Given the description of an element on the screen output the (x, y) to click on. 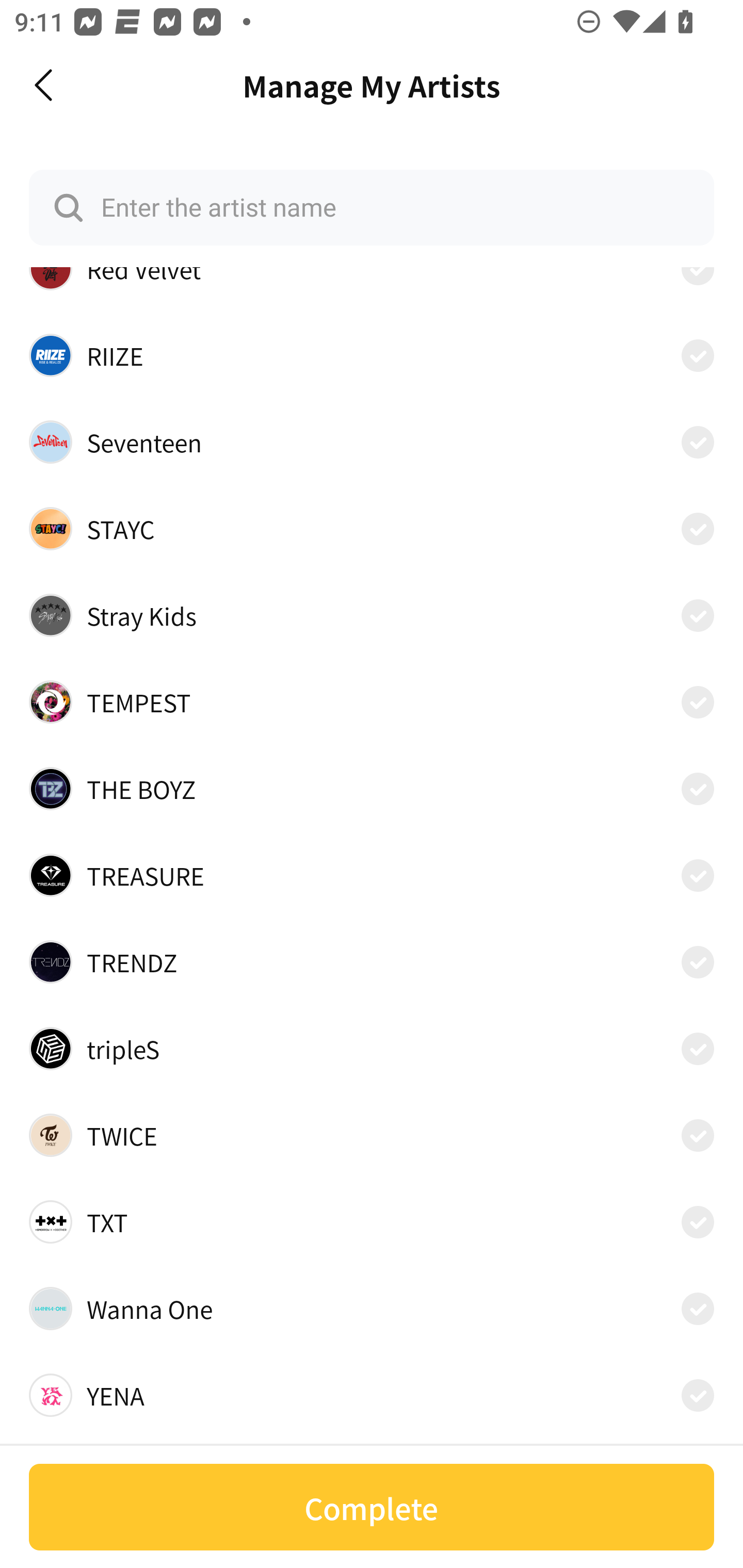
Enter the artist name (371, 207)
RIIZE (371, 354)
Seventeen (371, 442)
STAYC (371, 528)
Stray Kids (371, 615)
TEMPEST (371, 702)
THE BOYZ (371, 788)
TREASURE (371, 874)
TRENDZ (371, 961)
tripleS (371, 1048)
TWICE (371, 1135)
TXT (371, 1221)
Wanna One (371, 1308)
YENA (371, 1395)
Complete (371, 1507)
